Given the description of an element on the screen output the (x, y) to click on. 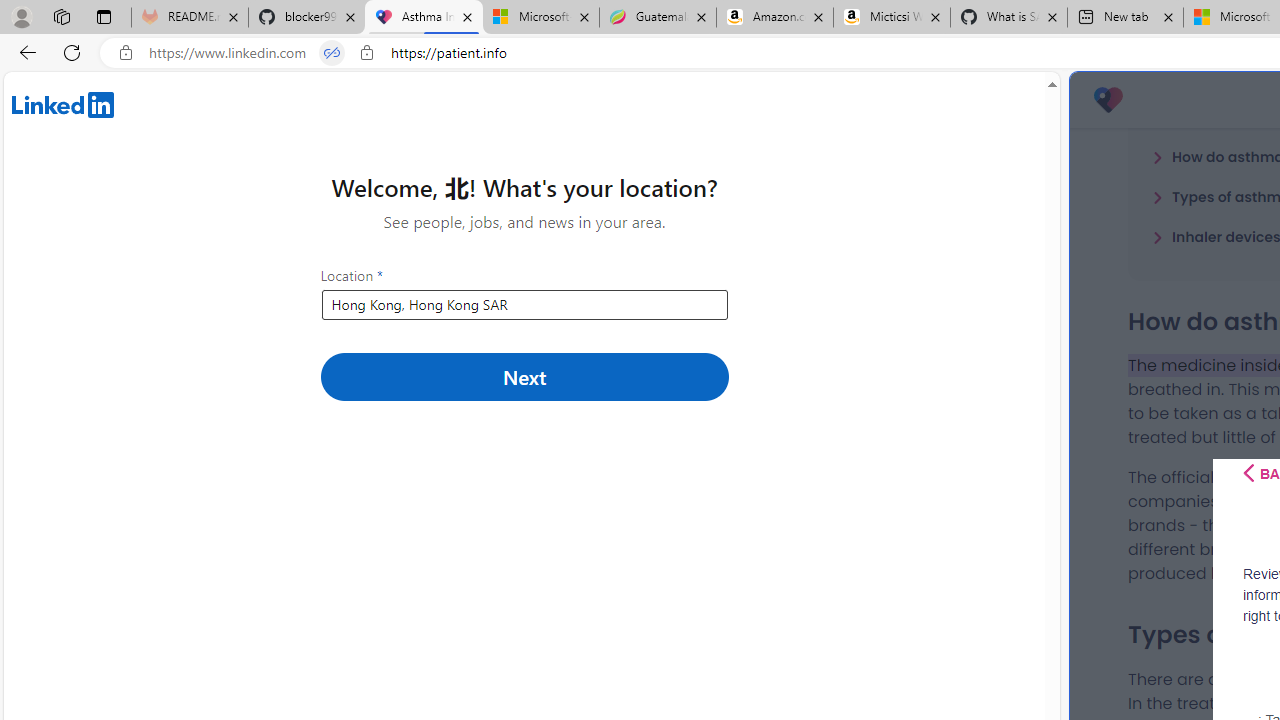
Patient 3.0 (1108, 100)
Class: css-i5klq5 (1248, 473)
